Given the description of an element on the screen output the (x, y) to click on. 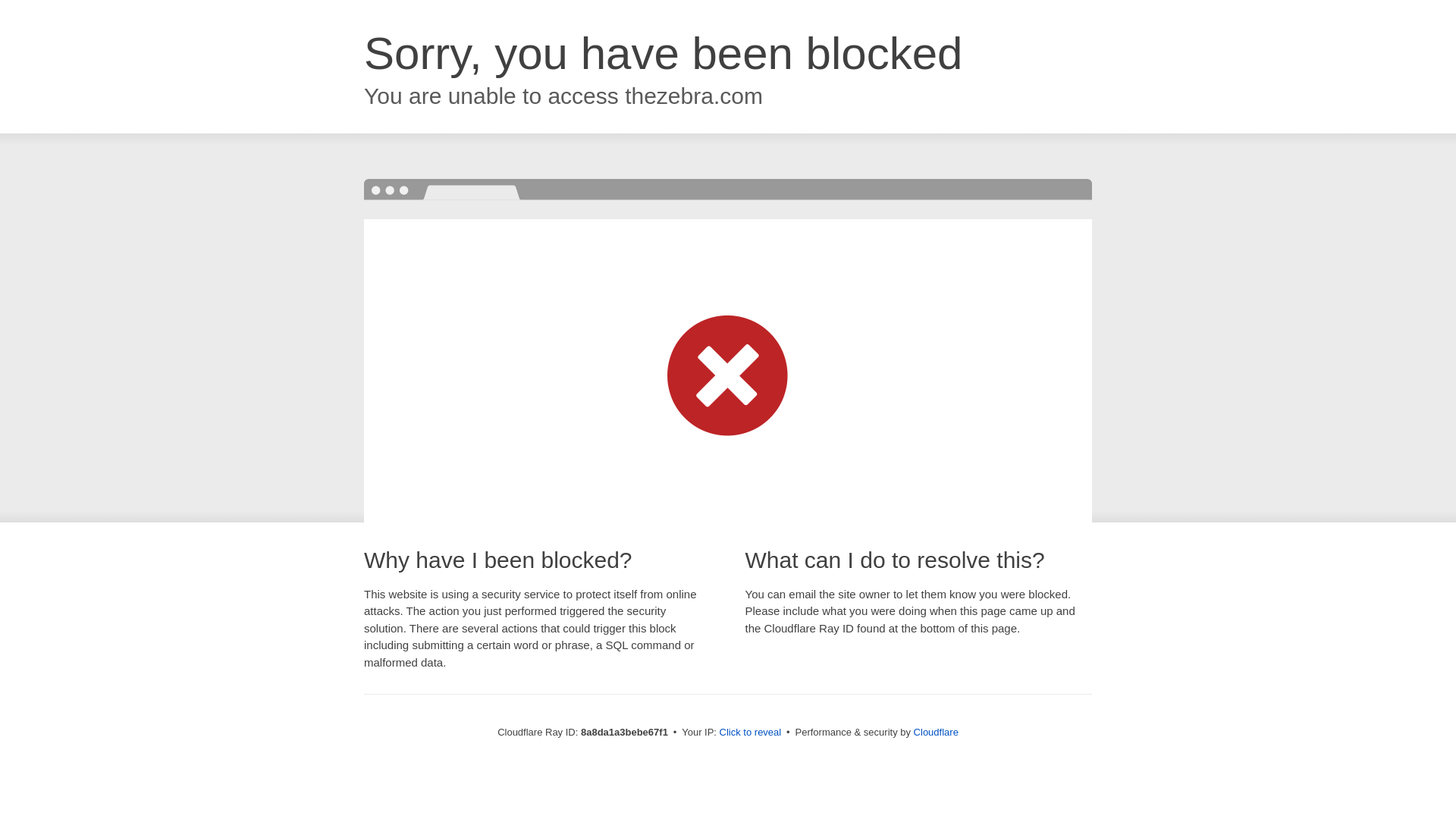
Click to reveal (750, 732)
Cloudflare (936, 731)
